Given the description of an element on the screen output the (x, y) to click on. 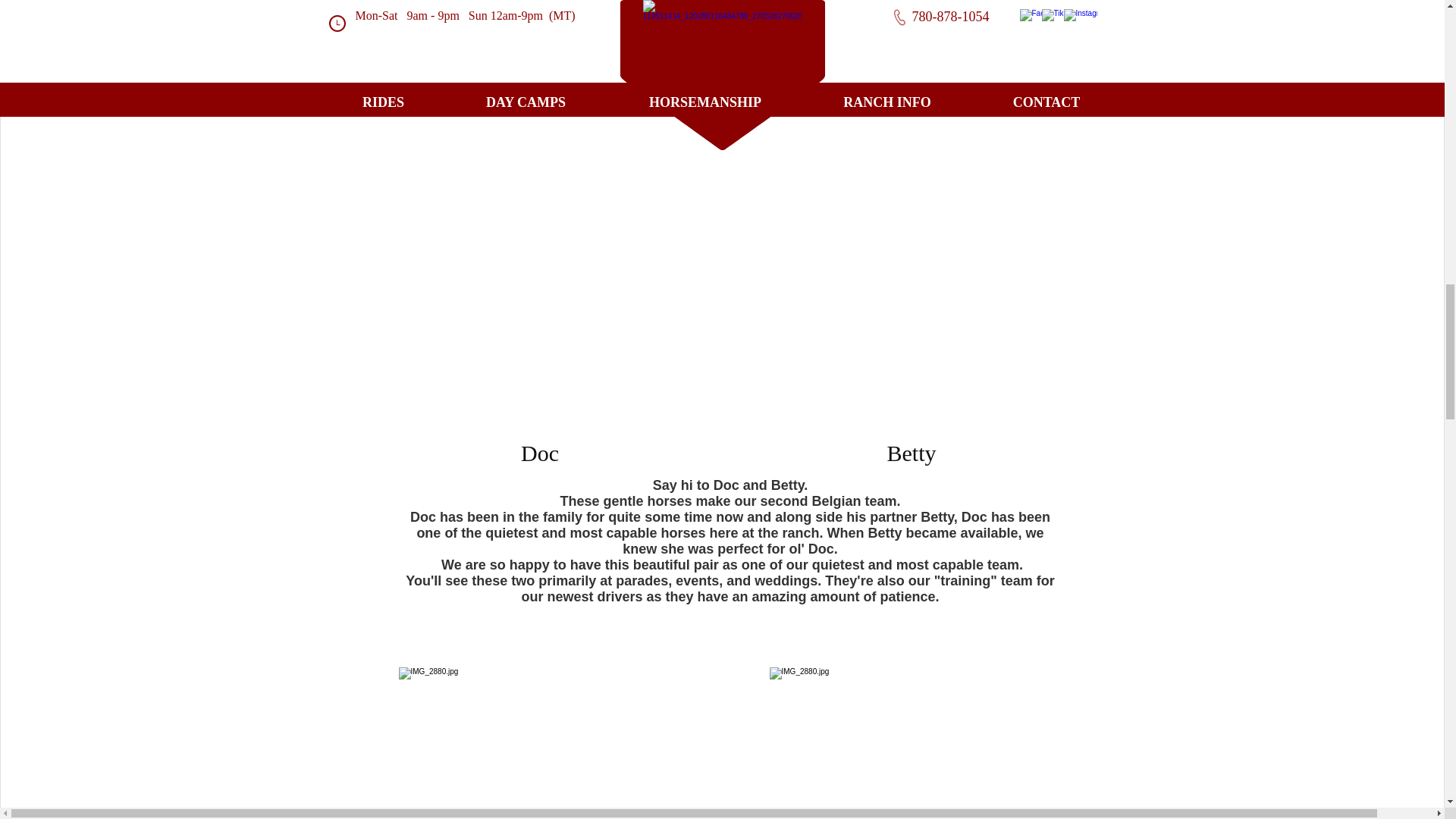
guy2.jpg (540, 743)
guy4.jpg (912, 231)
guy2.jpg (910, 743)
guy2.jpg (540, 231)
